Given the description of an element on the screen output the (x, y) to click on. 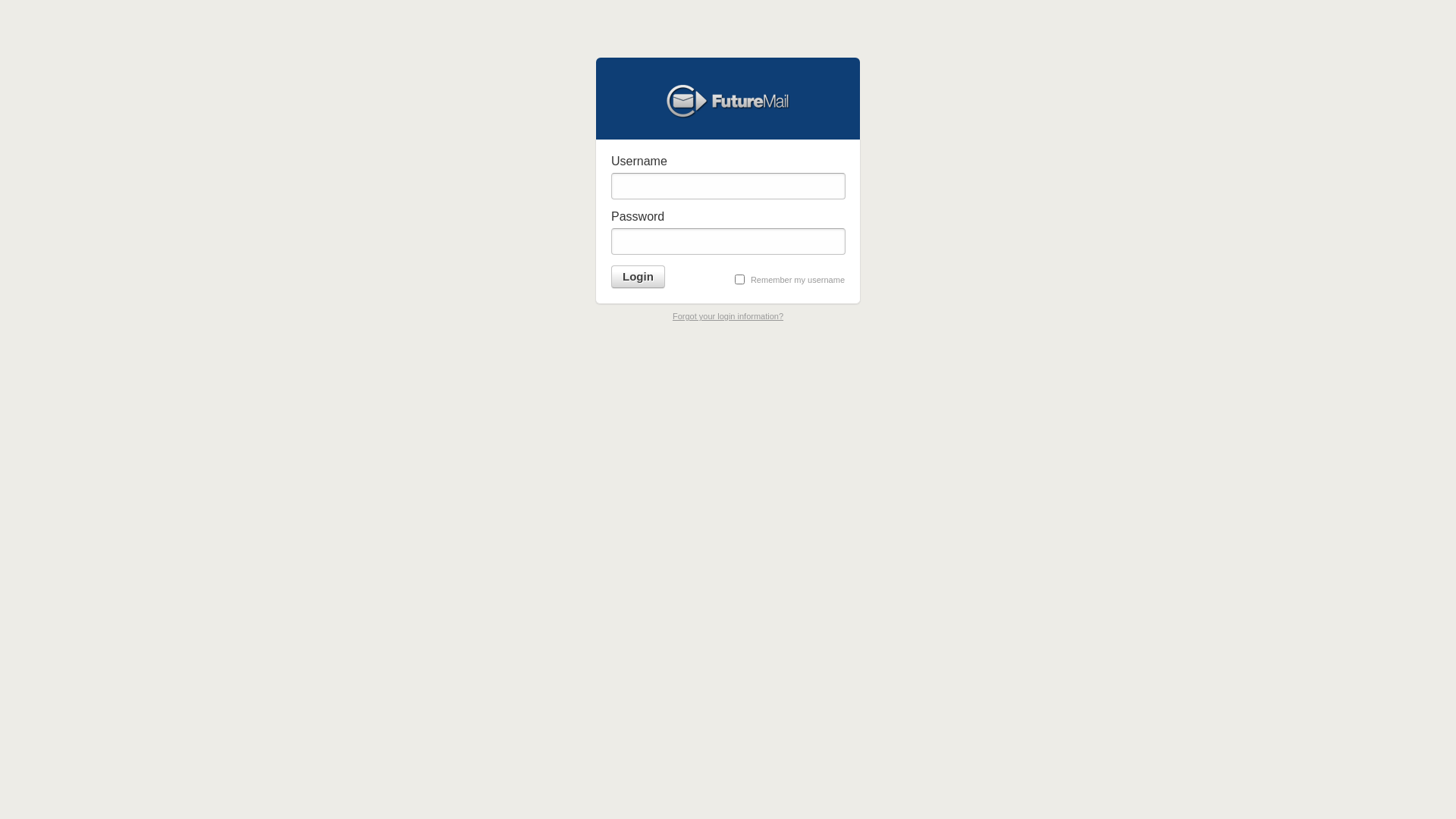
Forgot your login information? Element type: text (727, 315)
Login Element type: text (638, 276)
